Given the description of an element on the screen output the (x, y) to click on. 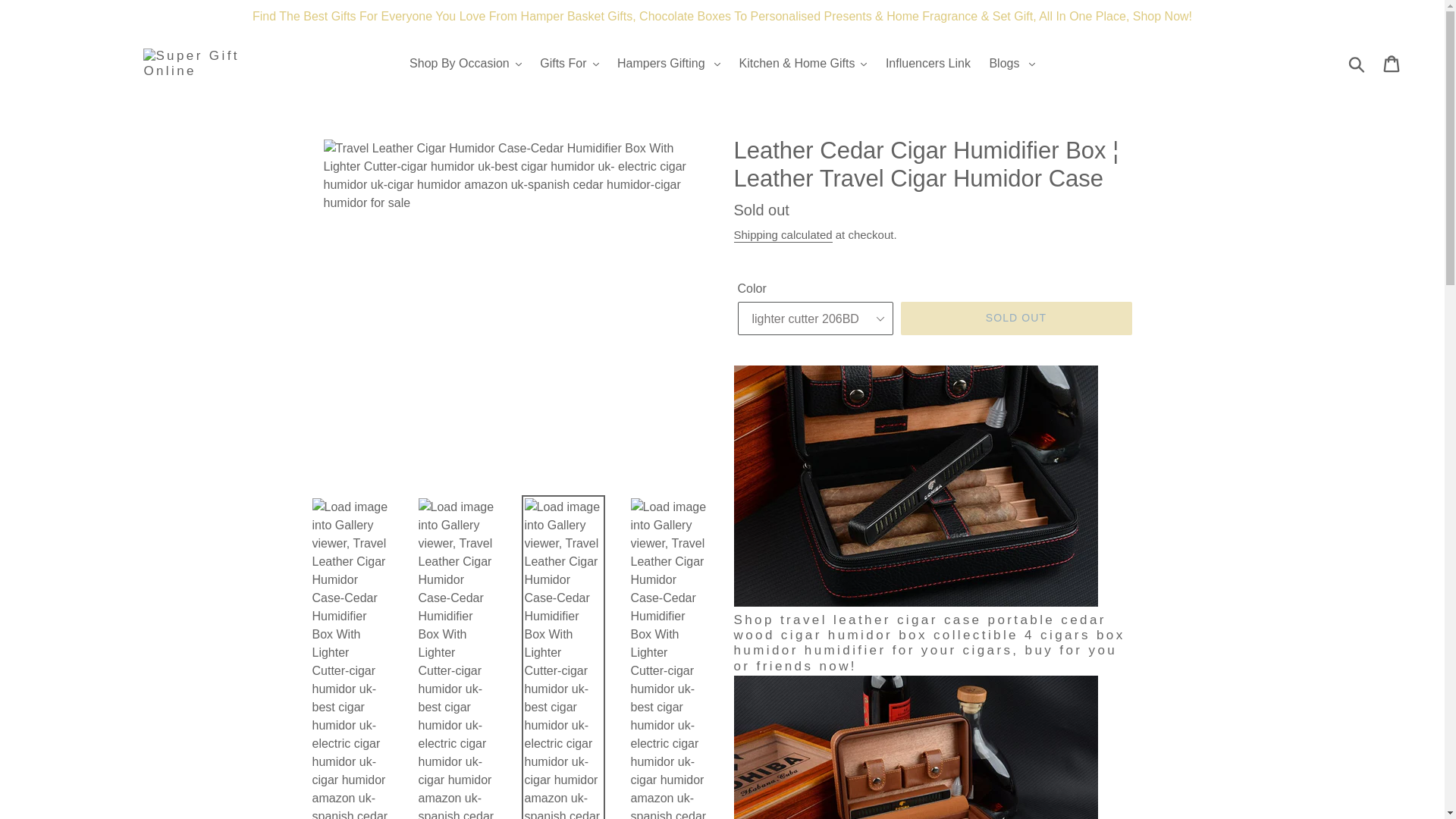
Influencers Link (927, 63)
